Given the description of an element on the screen output the (x, y) to click on. 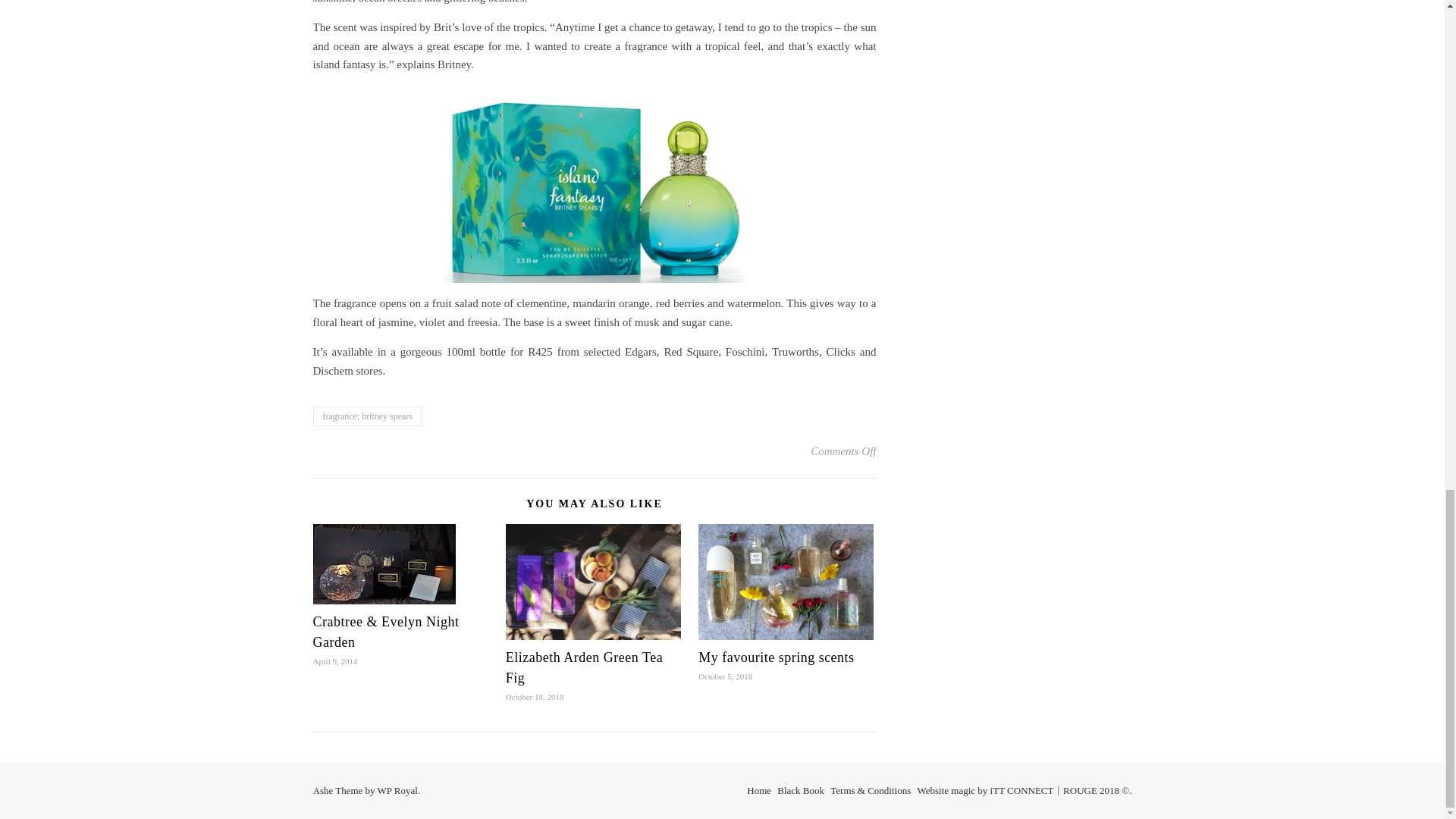
fragrance; britney spears (367, 415)
Home (758, 790)
Elizabeth Arden Green Tea Fig (583, 667)
My favourite spring scents (775, 657)
WP Royal (397, 790)
Black Book (800, 790)
Website magic by iTT CONNECT (985, 790)
